Given the description of an element on the screen output the (x, y) to click on. 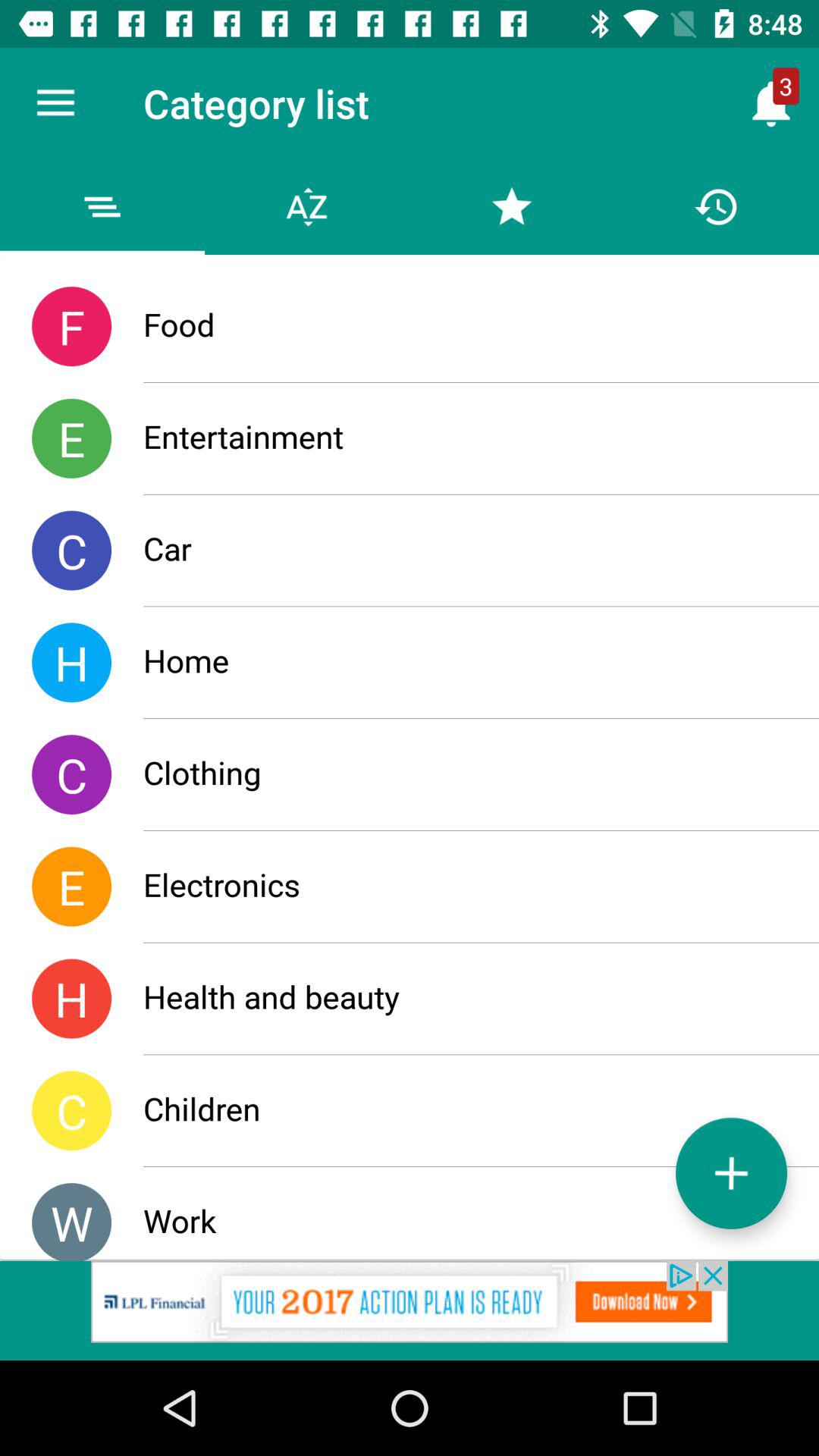
go to speakev (409, 1310)
